Given the description of an element on the screen output the (x, y) to click on. 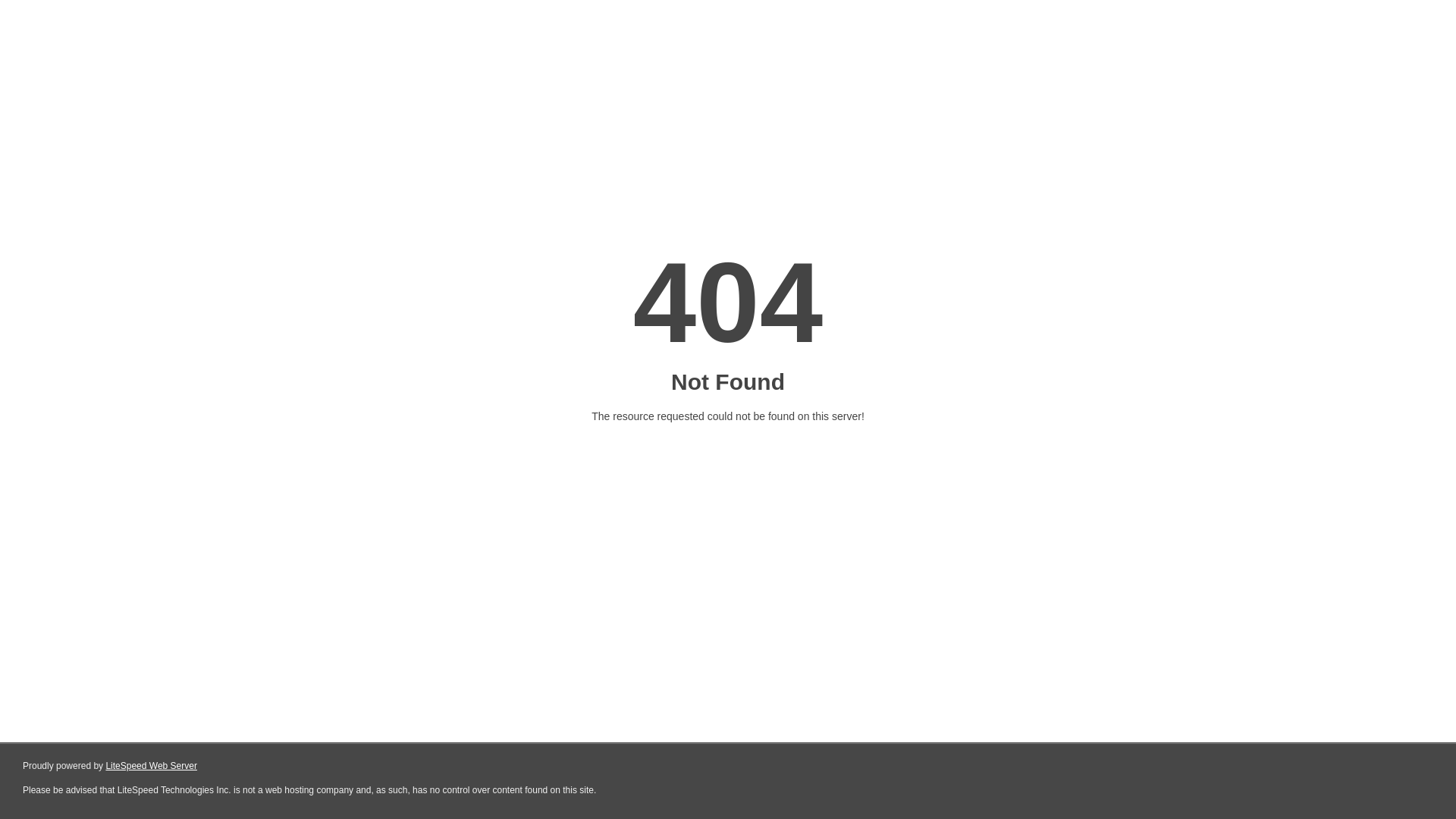
LiteSpeed Web Server Element type: text (151, 765)
